Given the description of an element on the screen output the (x, y) to click on. 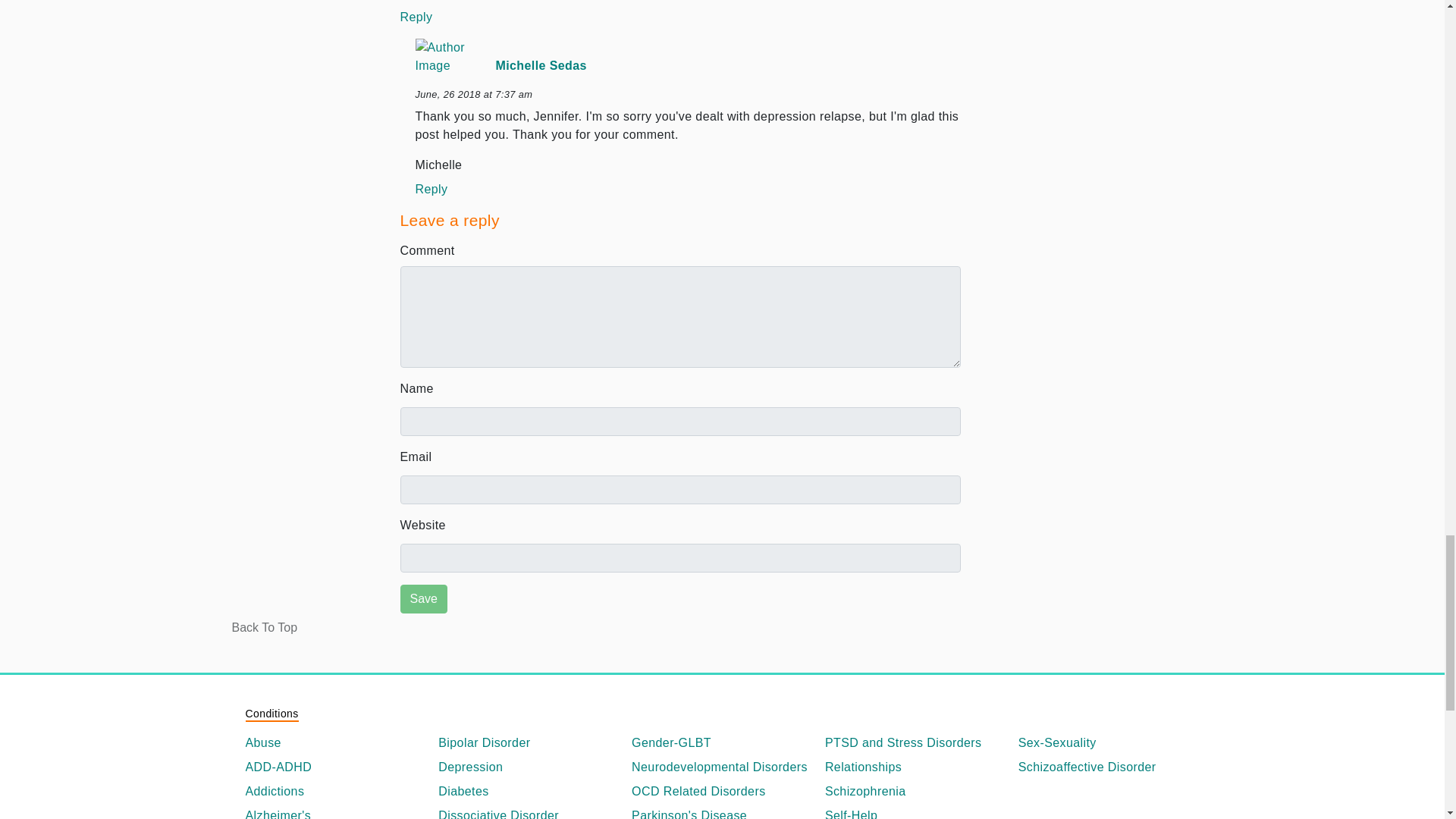
Parkinson's Disease Information Articles (721, 812)
